Given the description of an element on the screen output the (x, y) to click on. 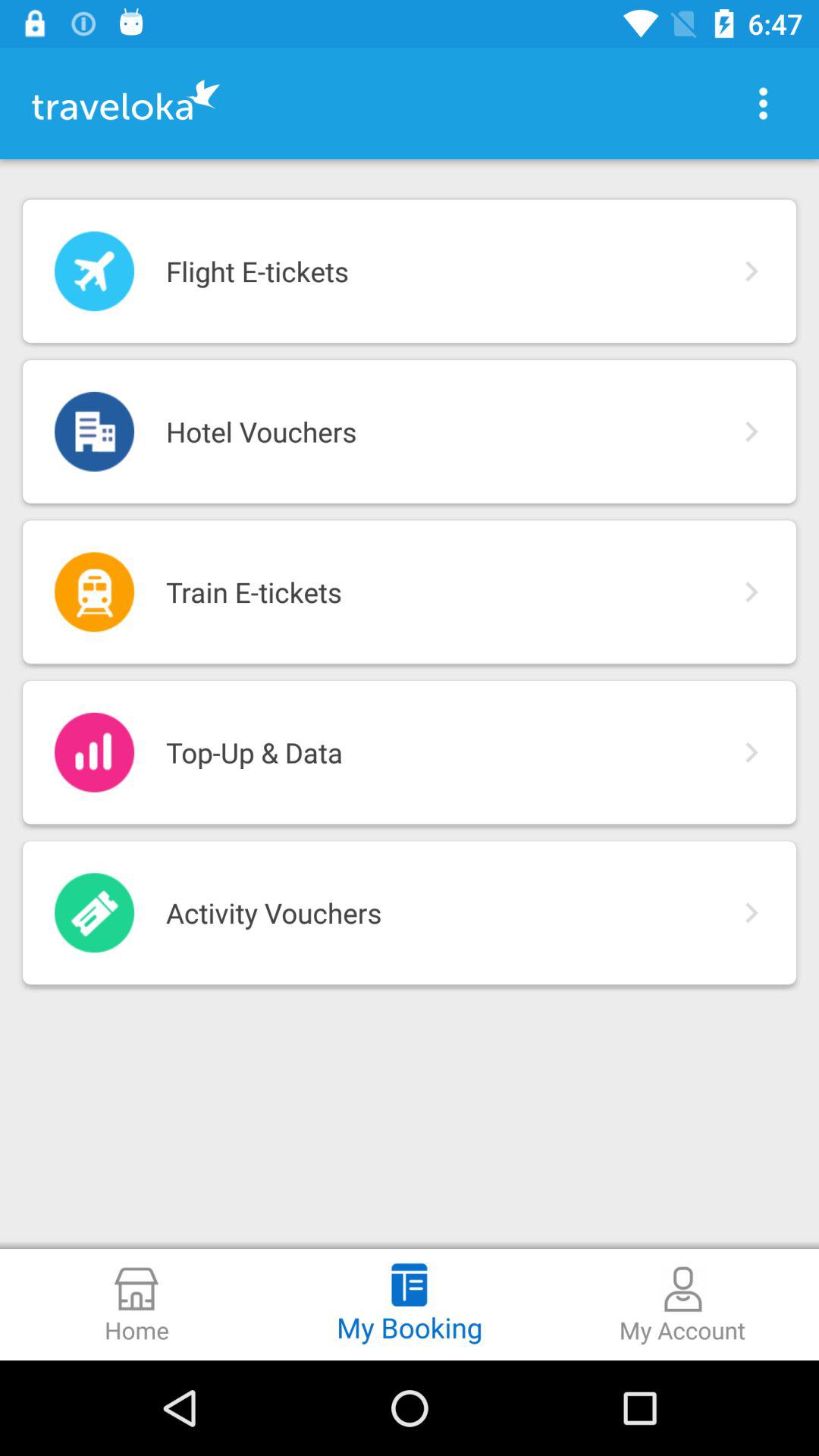
more options (763, 103)
